Given the description of an element on the screen output the (x, y) to click on. 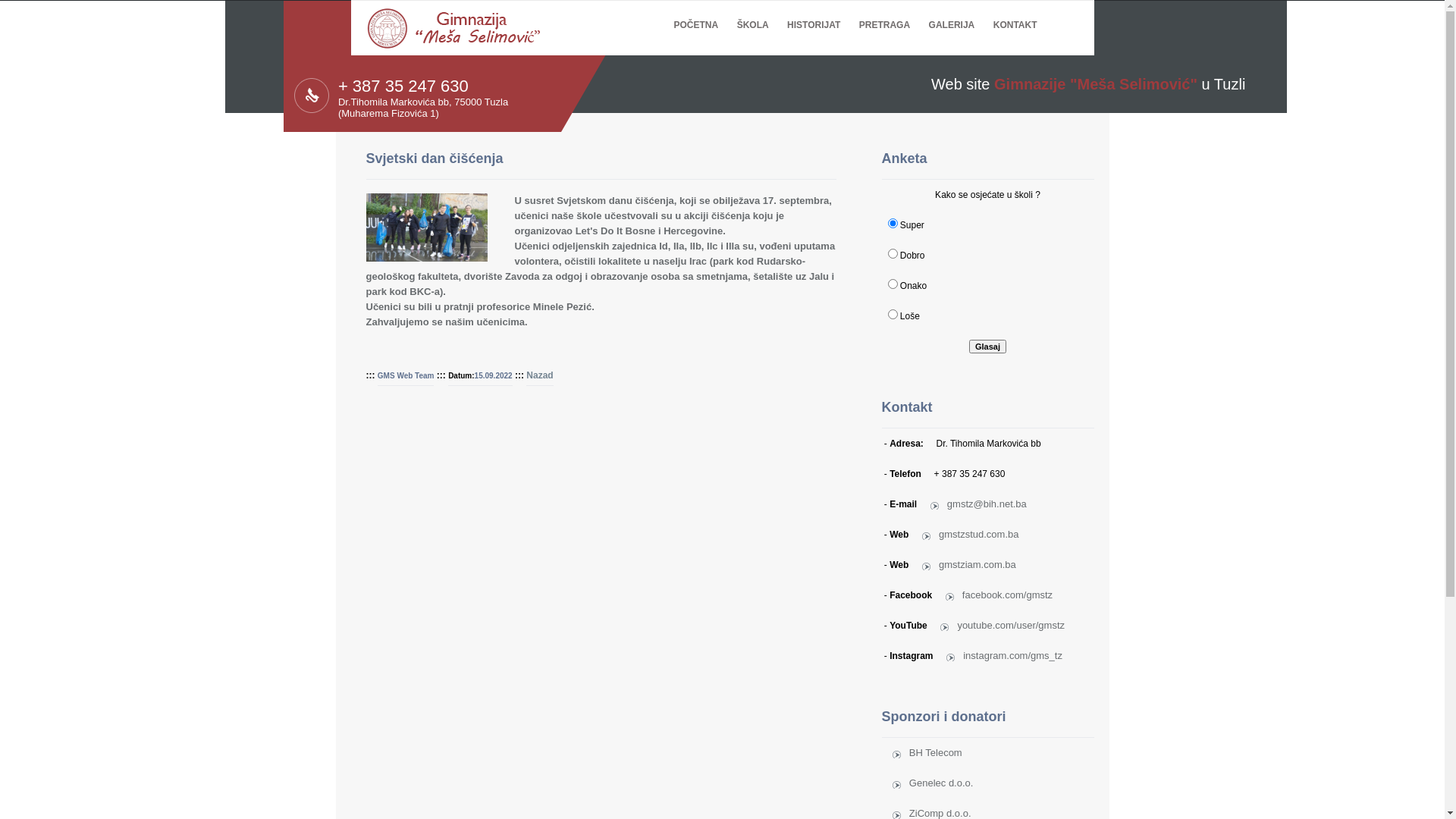
gmstzstud.com.ba Element type: text (970, 533)
GALERIJA Element type: text (951, 15)
PRETRAGA Element type: text (884, 15)
HISTORIJAT Element type: text (813, 15)
Genelec d.o.o. Element type: text (932, 782)
KONTAKT Element type: text (1015, 15)
facebook.com/gmstz Element type: text (998, 594)
gmstz@bih.net.ba Element type: text (977, 503)
youtube.com/user/gmstz Element type: text (1001, 624)
Glasaj Element type: text (987, 346)
BH Telecom Element type: text (926, 752)
Nazad Element type: text (539, 375)
gmstziam.com.ba Element type: text (968, 564)
instagram.com/gms_tz Element type: text (1003, 655)
